Given the description of an element on the screen output the (x, y) to click on. 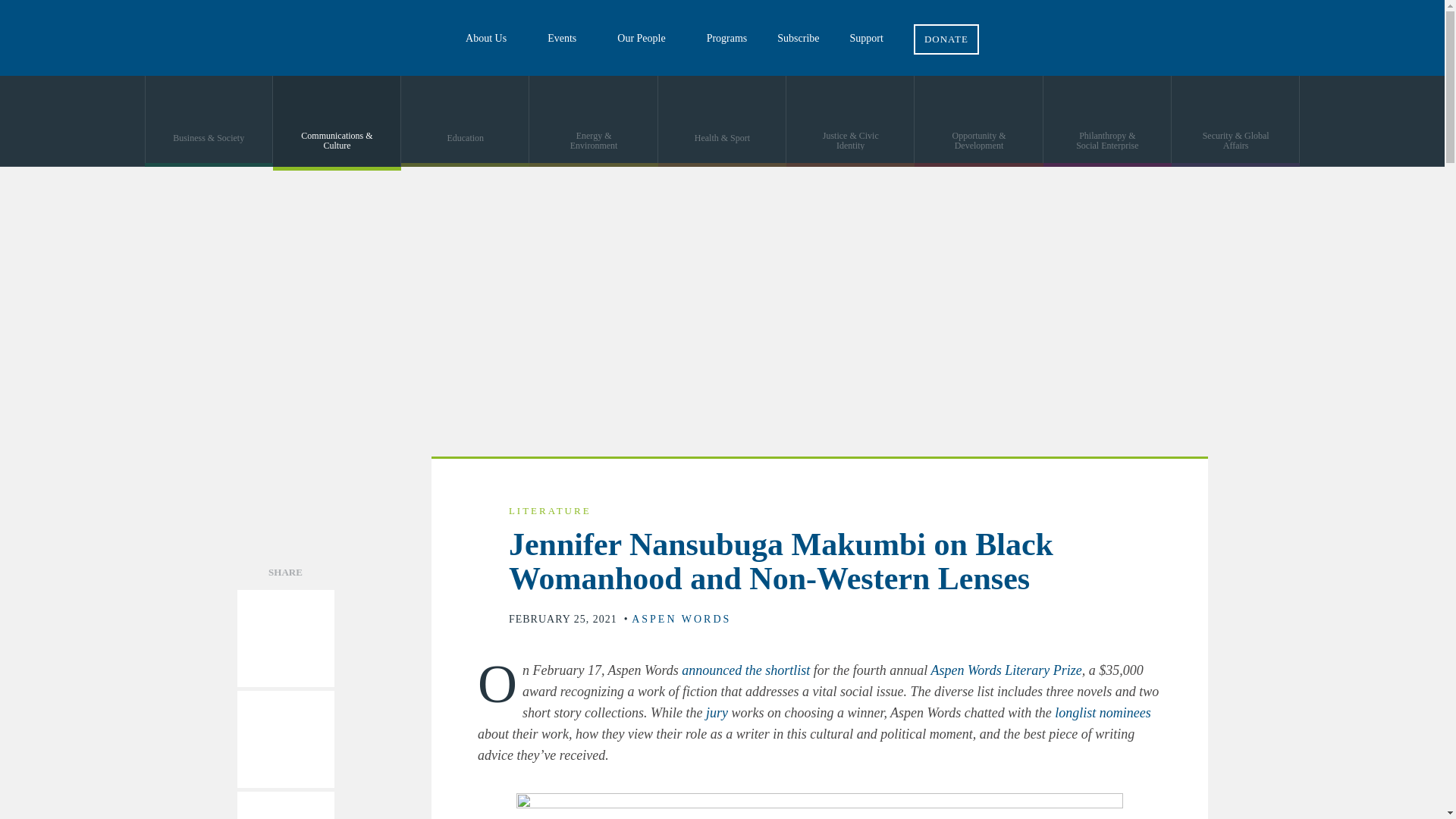
Education (465, 121)
Our People (646, 38)
Programs (726, 38)
Events (567, 38)
About Us (490, 38)
The Aspen Institute (113, 38)
DONATE (946, 27)
Subscribe (797, 38)
